Given the description of an element on the screen output the (x, y) to click on. 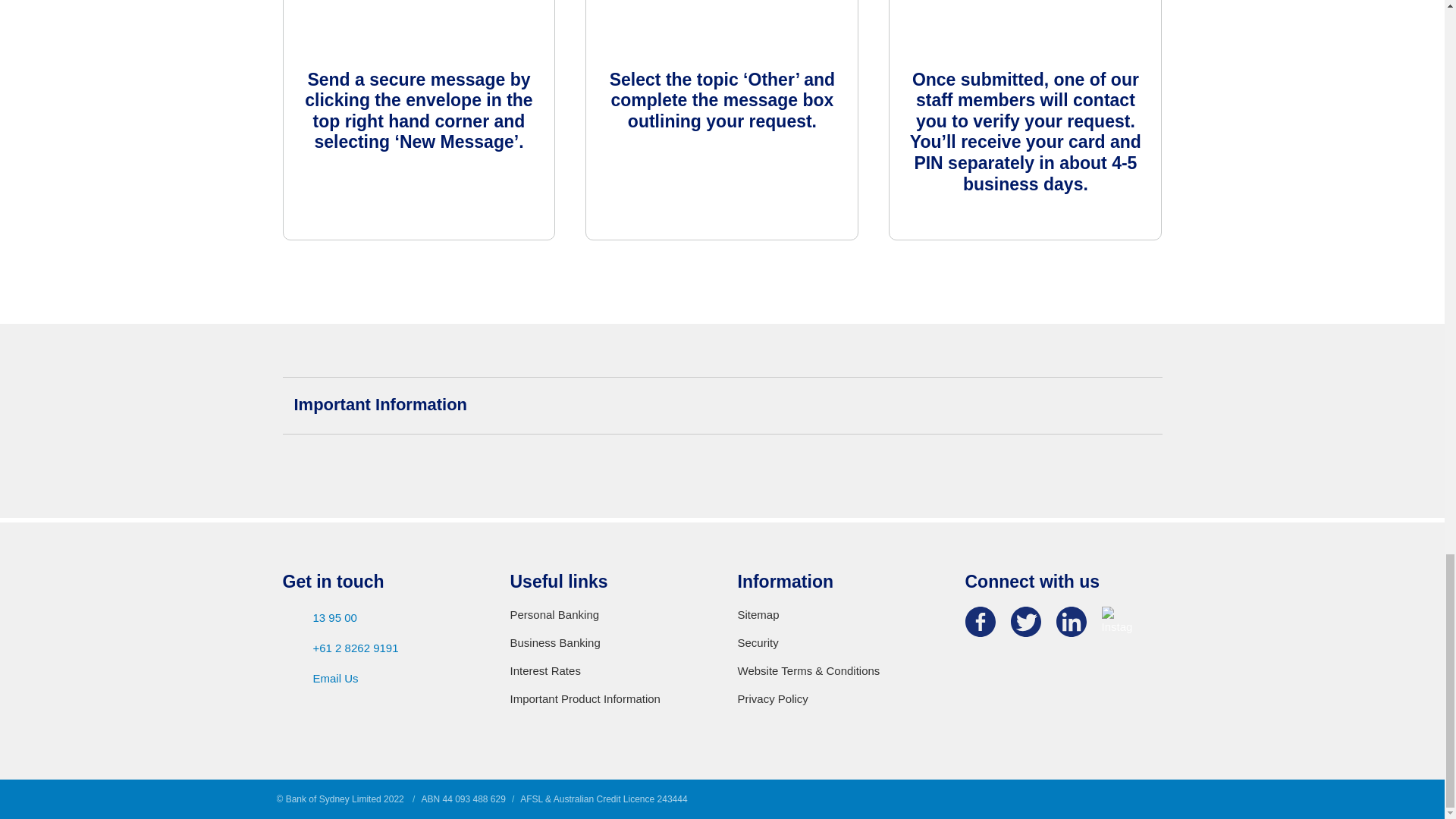
Email Us (380, 678)
Business Banking (607, 642)
Important Product Information (607, 699)
Security (835, 642)
13 95 00 (380, 617)
Interest Rates (607, 670)
Sitemap (835, 614)
Personal Banking (607, 614)
Important Information (721, 405)
